Given the description of an element on the screen output the (x, y) to click on. 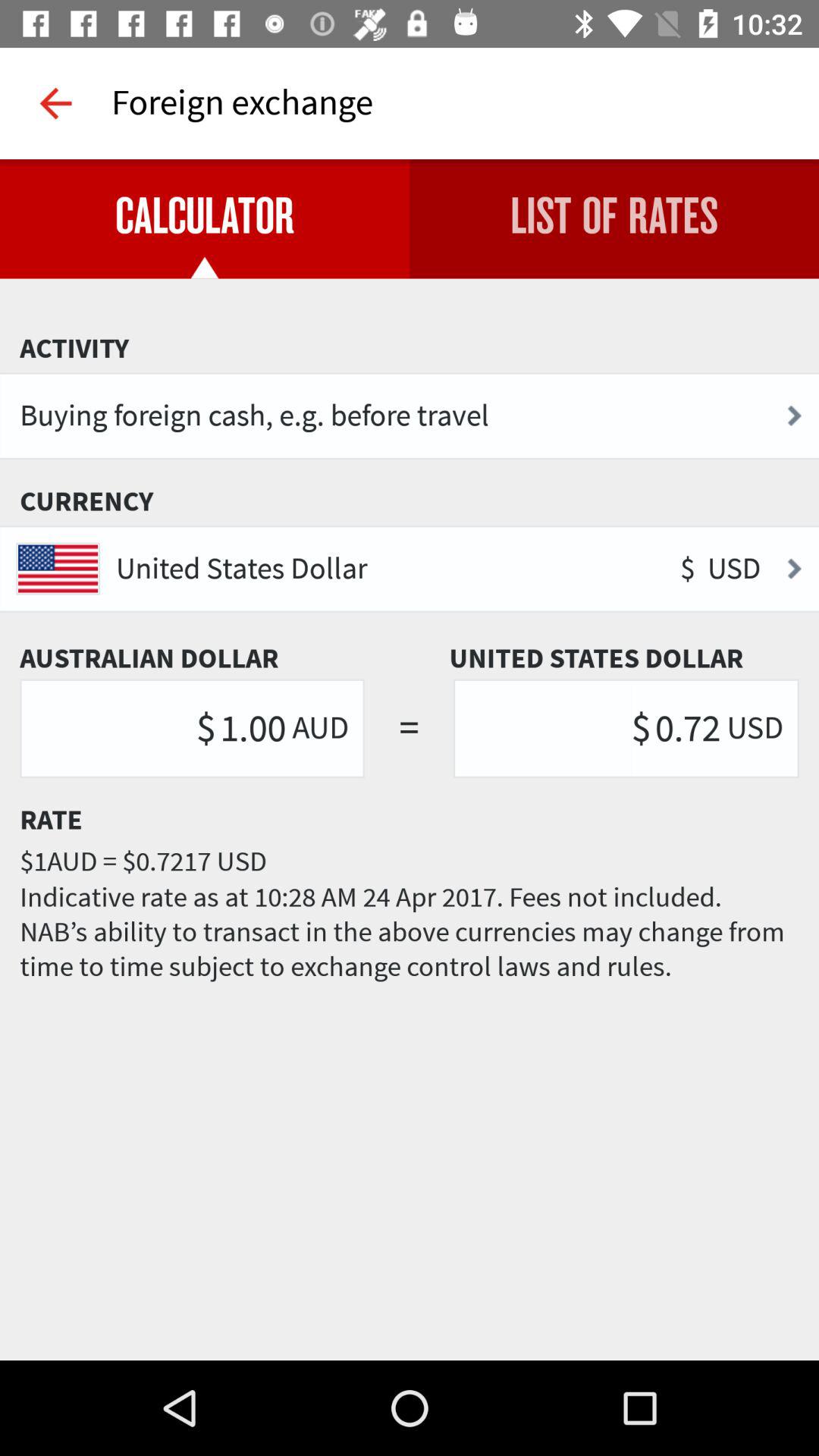
select the item next to foreign exchange item (55, 103)
